Given the description of an element on the screen output the (x, y) to click on. 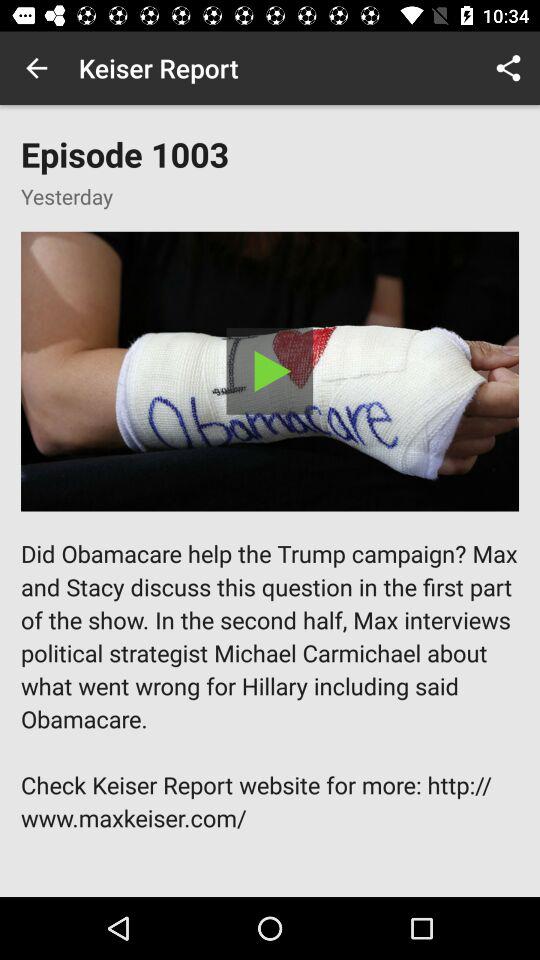
click icon below the yesterday icon (270, 371)
